Given the description of an element on the screen output the (x, y) to click on. 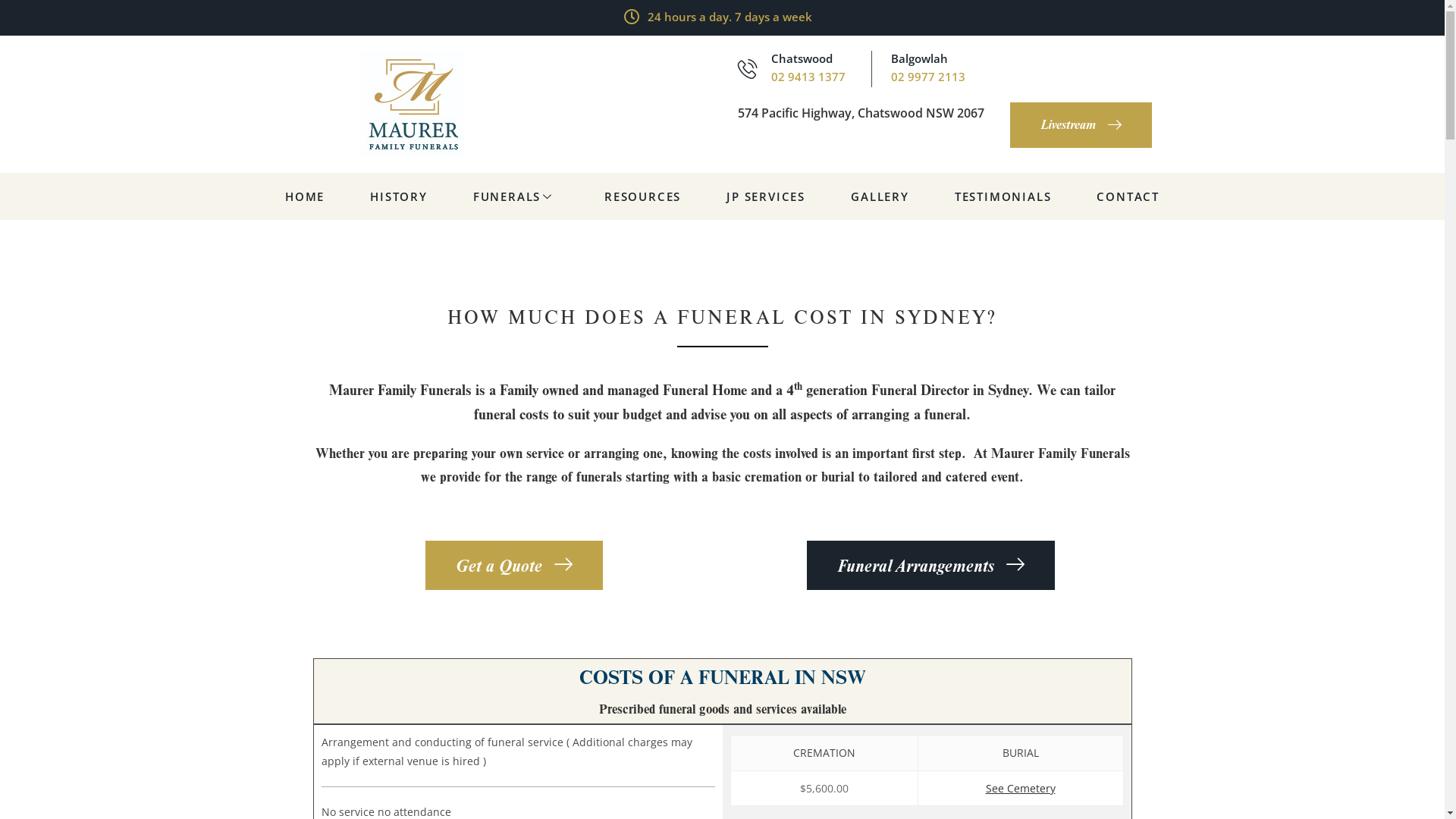
Balgowlah Element type: text (919, 57)
HISTORY Element type: text (398, 196)
See Cemetery Element type: text (1020, 788)
Funeral Arrangements Element type: text (930, 564)
JP SERVICES Element type: text (765, 196)
TESTIMONIALS Element type: text (1002, 196)
Livestream Element type: text (1080, 124)
Get a Quote Element type: text (513, 564)
CONTACT Element type: text (1127, 196)
Chatswood Element type: text (800, 57)
FUNERALS Element type: text (515, 196)
HOME Element type: text (304, 196)
574 Pacific Highway, Chatswood NSW 2067 Element type: text (860, 112)
RESOURCES Element type: text (642, 196)
GALLERY Element type: text (879, 196)
